Given the description of an element on the screen output the (x, y) to click on. 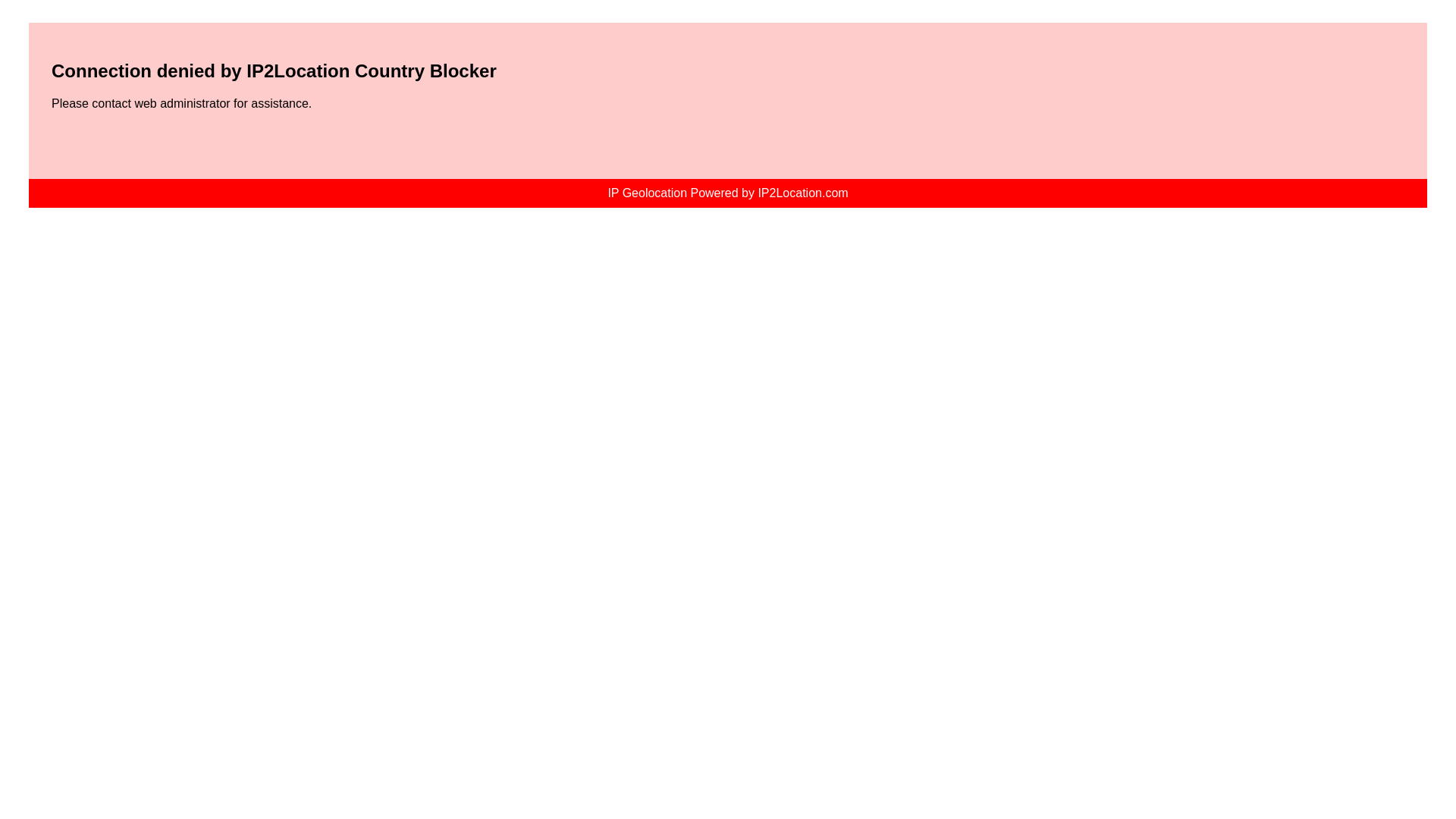
IP Geolocation Powered by IP2Location.com (727, 192)
